Given the description of an element on the screen output the (x, y) to click on. 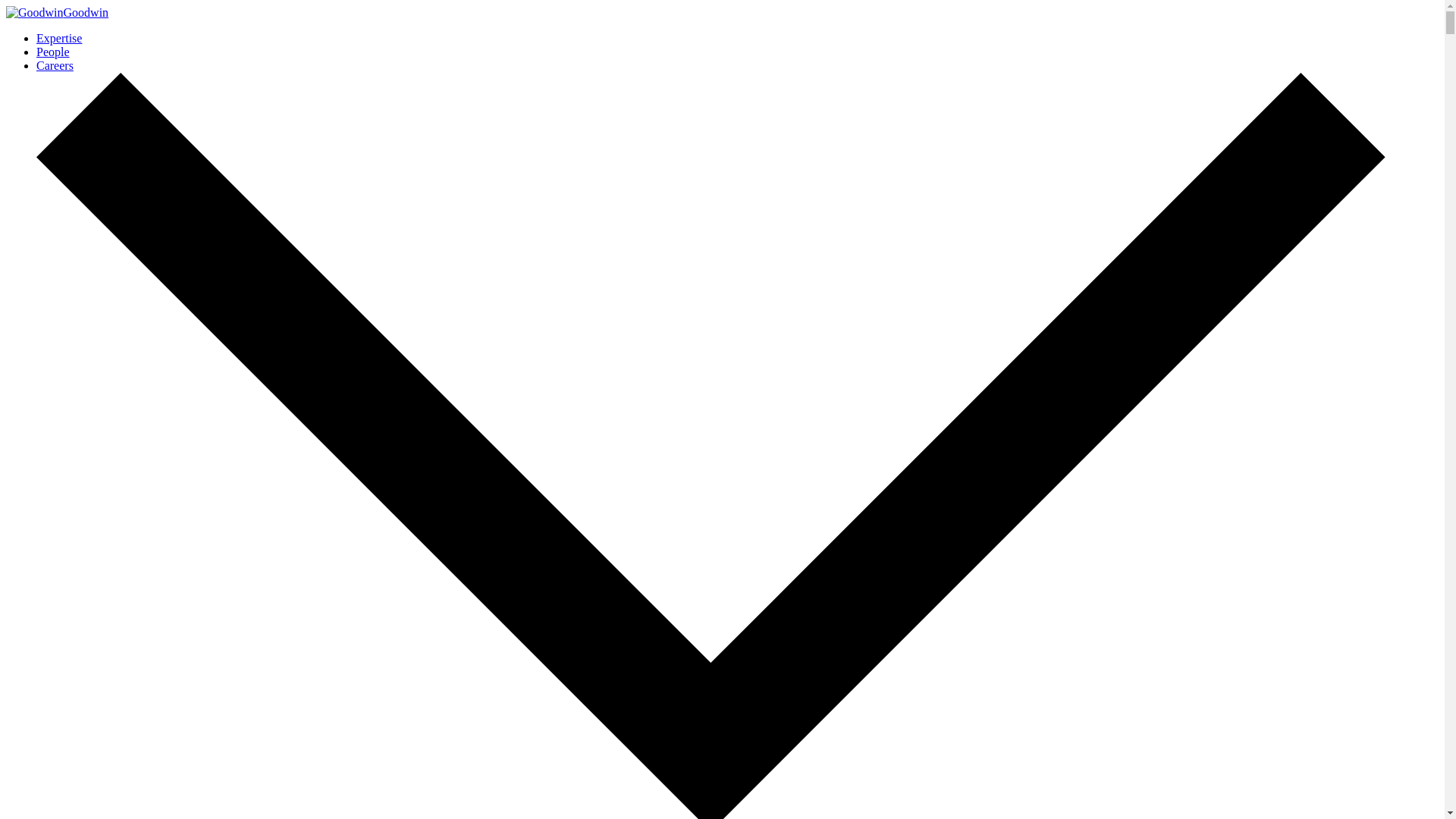
Goodwin (56, 11)
Expertise (58, 38)
People (52, 51)
